Given the description of an element on the screen output the (x, y) to click on. 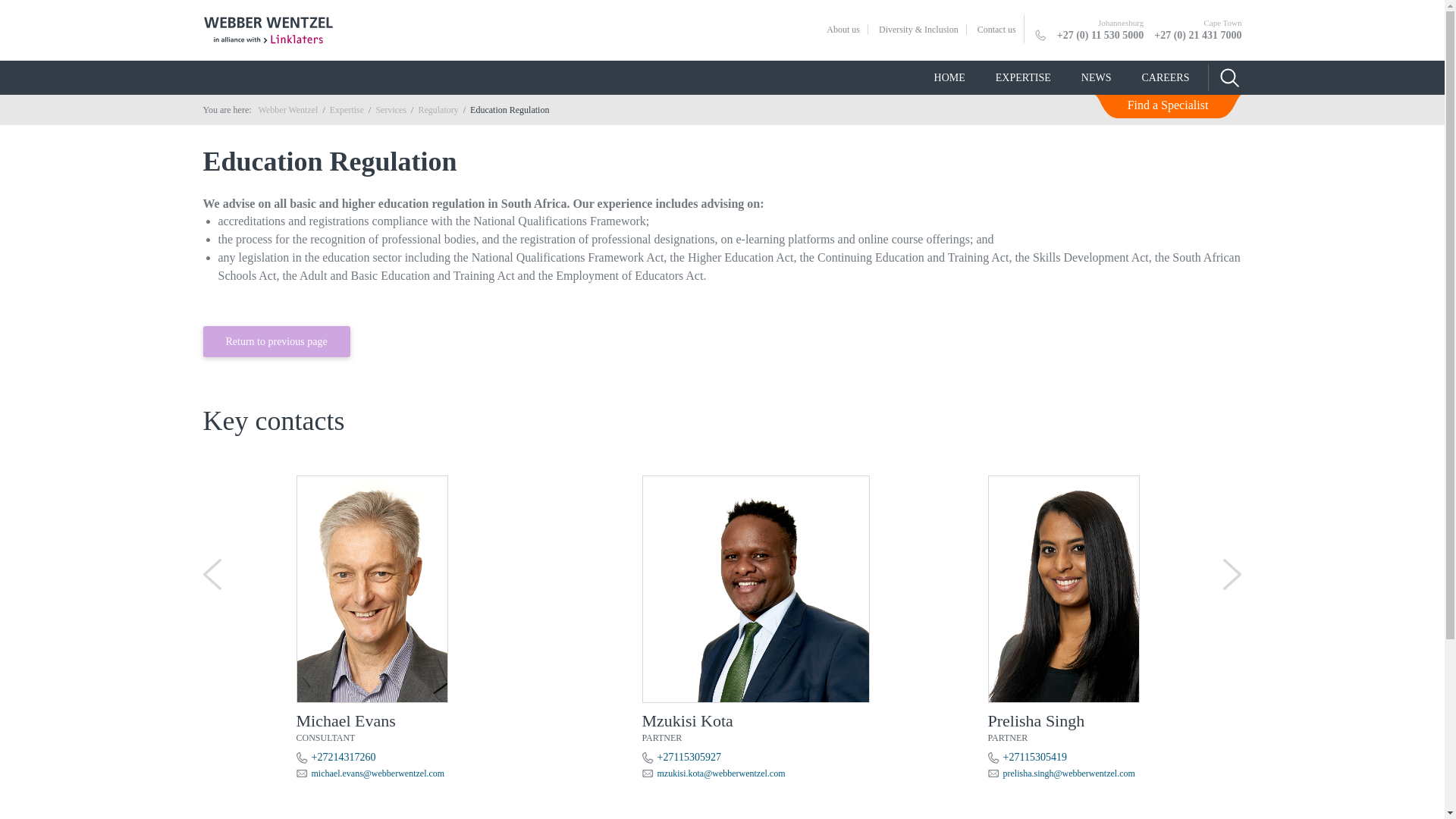
Home (288, 109)
Expertise (347, 109)
Contact us (996, 29)
Key contacts (722, 399)
HOME (948, 77)
EXPERTISE (1022, 77)
About us (842, 29)
